Given the description of an element on the screen output the (x, y) to click on. 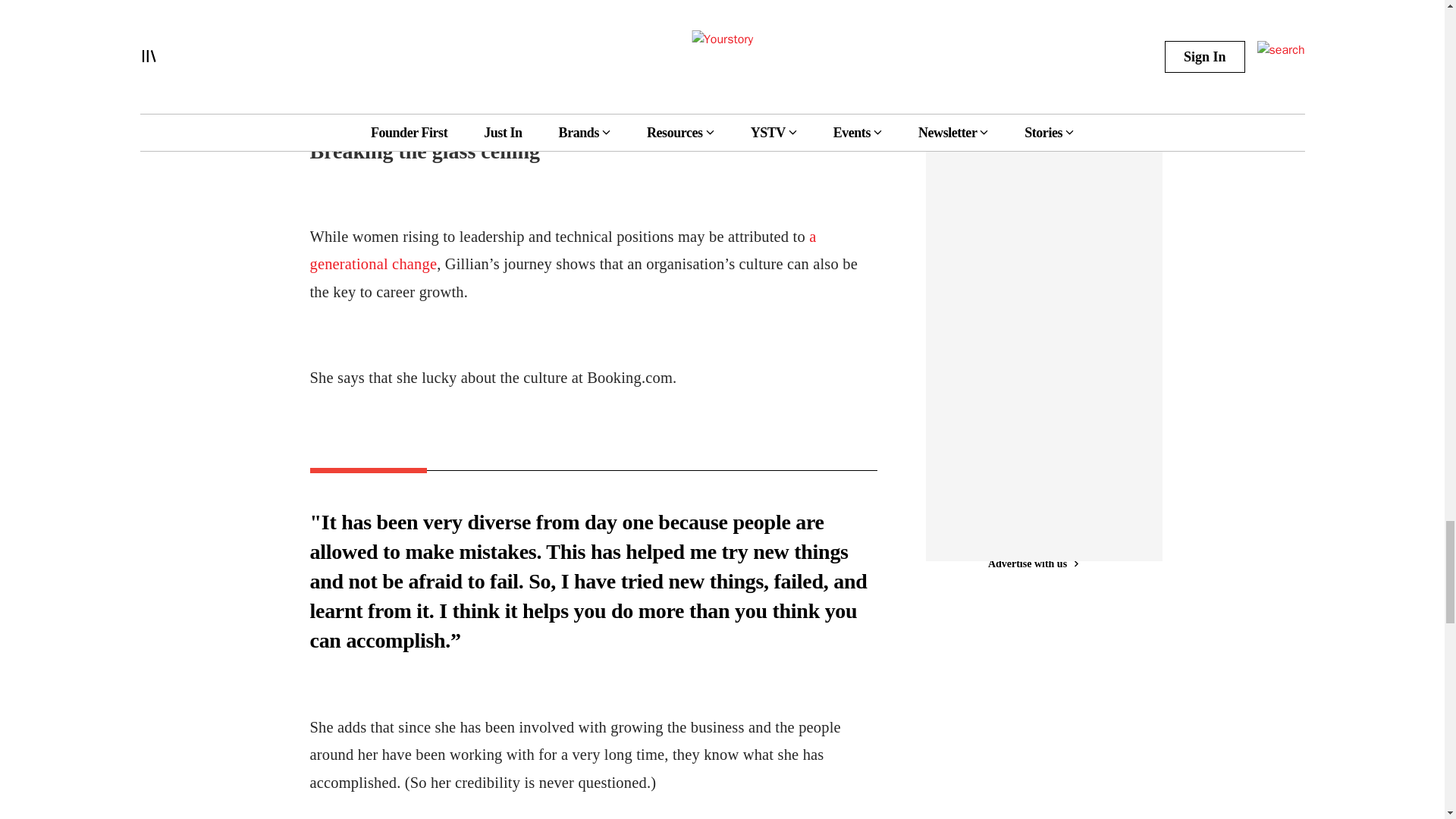
a generational change (561, 249)
